Given the description of an element on the screen output the (x, y) to click on. 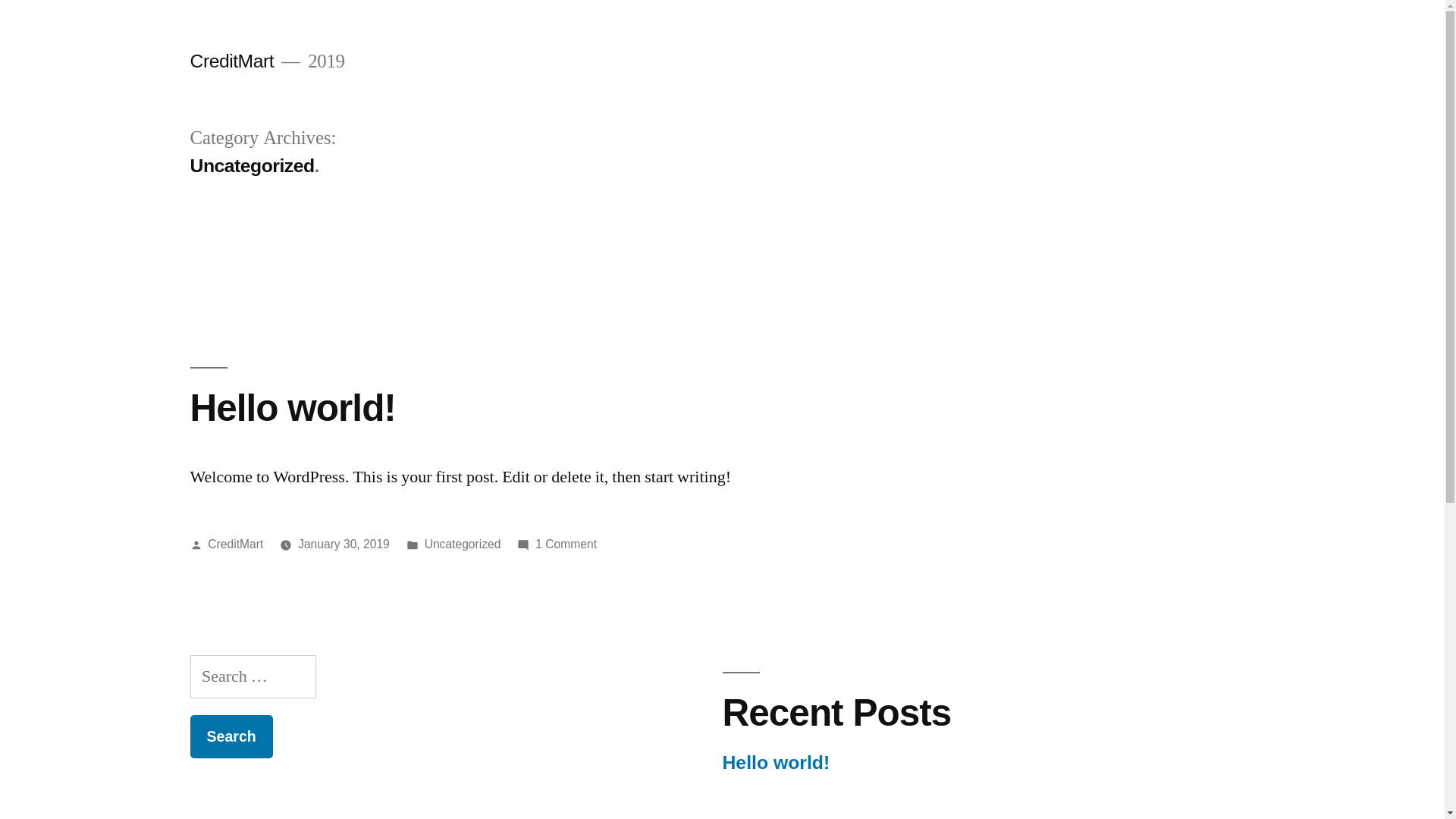
Hello world! Element type: text (292, 407)
CreditMart Element type: text (235, 543)
1 Comment
on Hello world! Element type: text (565, 543)
Hello world! Element type: text (775, 762)
Search Element type: text (230, 736)
January 30, 2019 Element type: text (343, 543)
CreditMart Element type: text (231, 60)
Uncategorized Element type: text (462, 543)
